Given the description of an element on the screen output the (x, y) to click on. 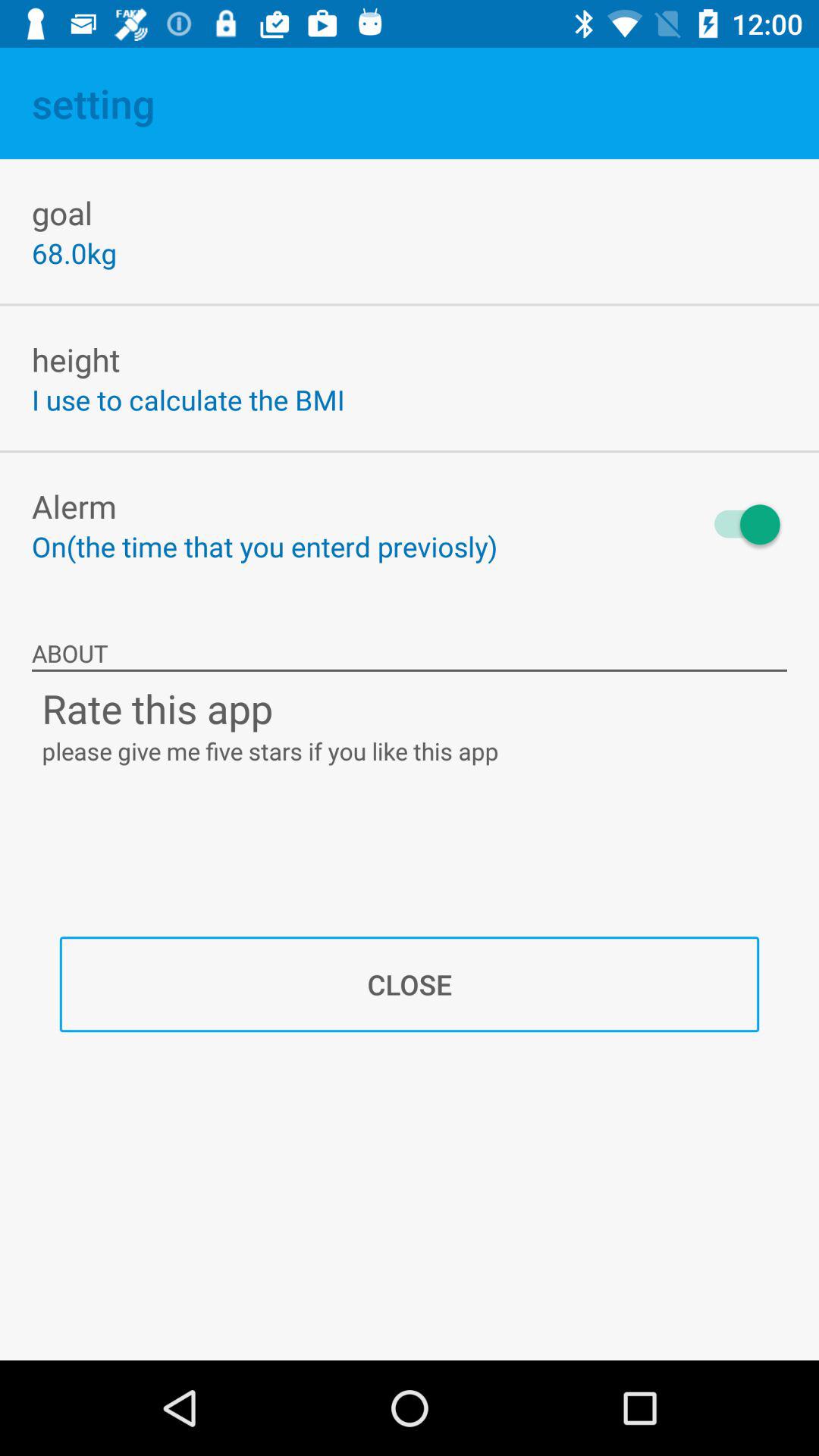
turn off the item to the right of on the time (739, 524)
